Given the description of an element on the screen output the (x, y) to click on. 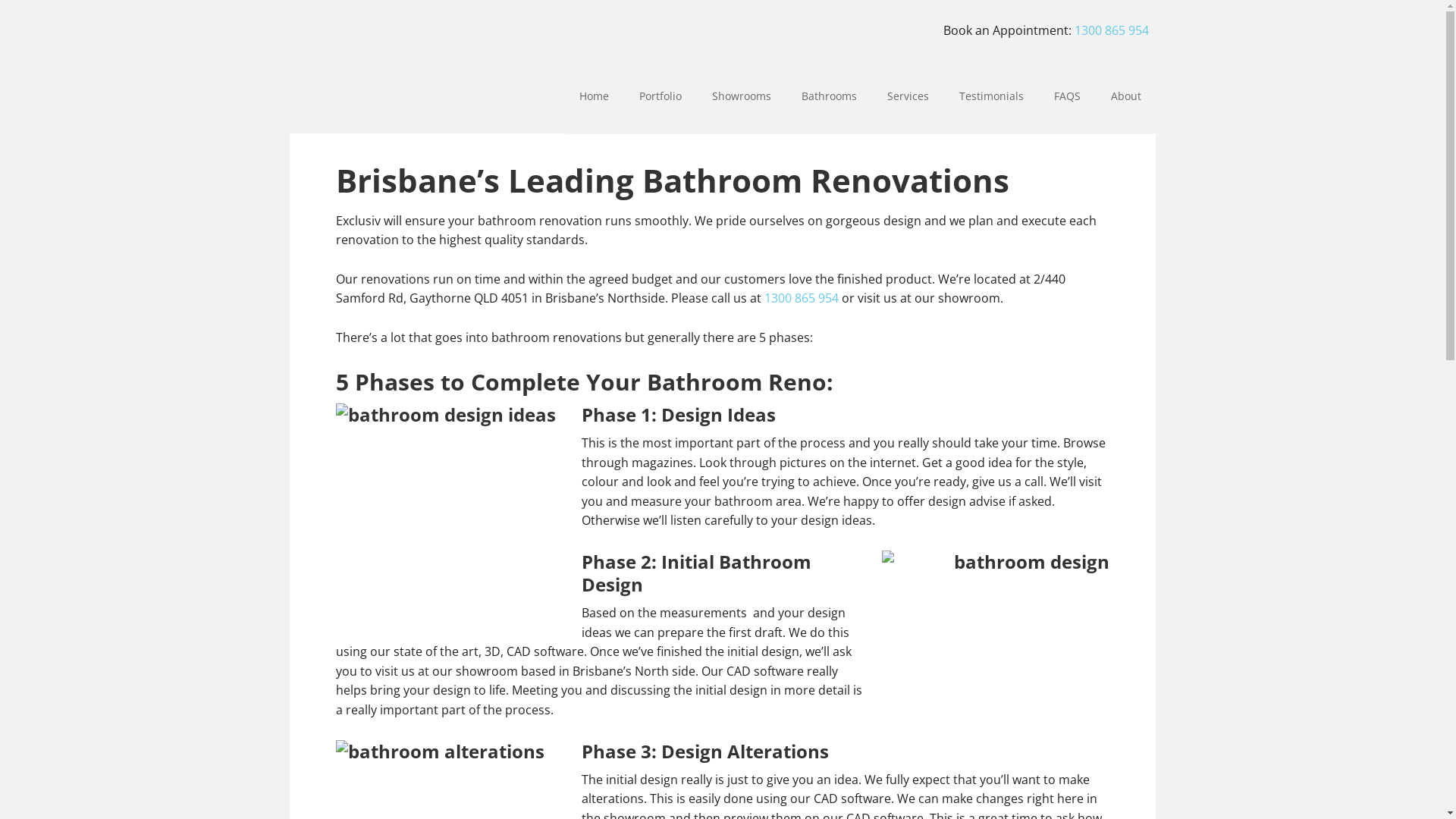
Exclusiv Kitchens Bayside Element type: text (387, 37)
Testimonials Element type: text (990, 96)
About Element type: text (1125, 96)
Showrooms Element type: text (740, 96)
Services Element type: text (907, 96)
FAQS Element type: text (1067, 96)
Bathrooms Element type: text (828, 96)
1300 865 954 Element type: text (1110, 29)
Home Element type: text (593, 96)
Portfolio Element type: text (659, 96)
1300 865 954 Element type: text (801, 297)
